Given the description of an element on the screen output the (x, y) to click on. 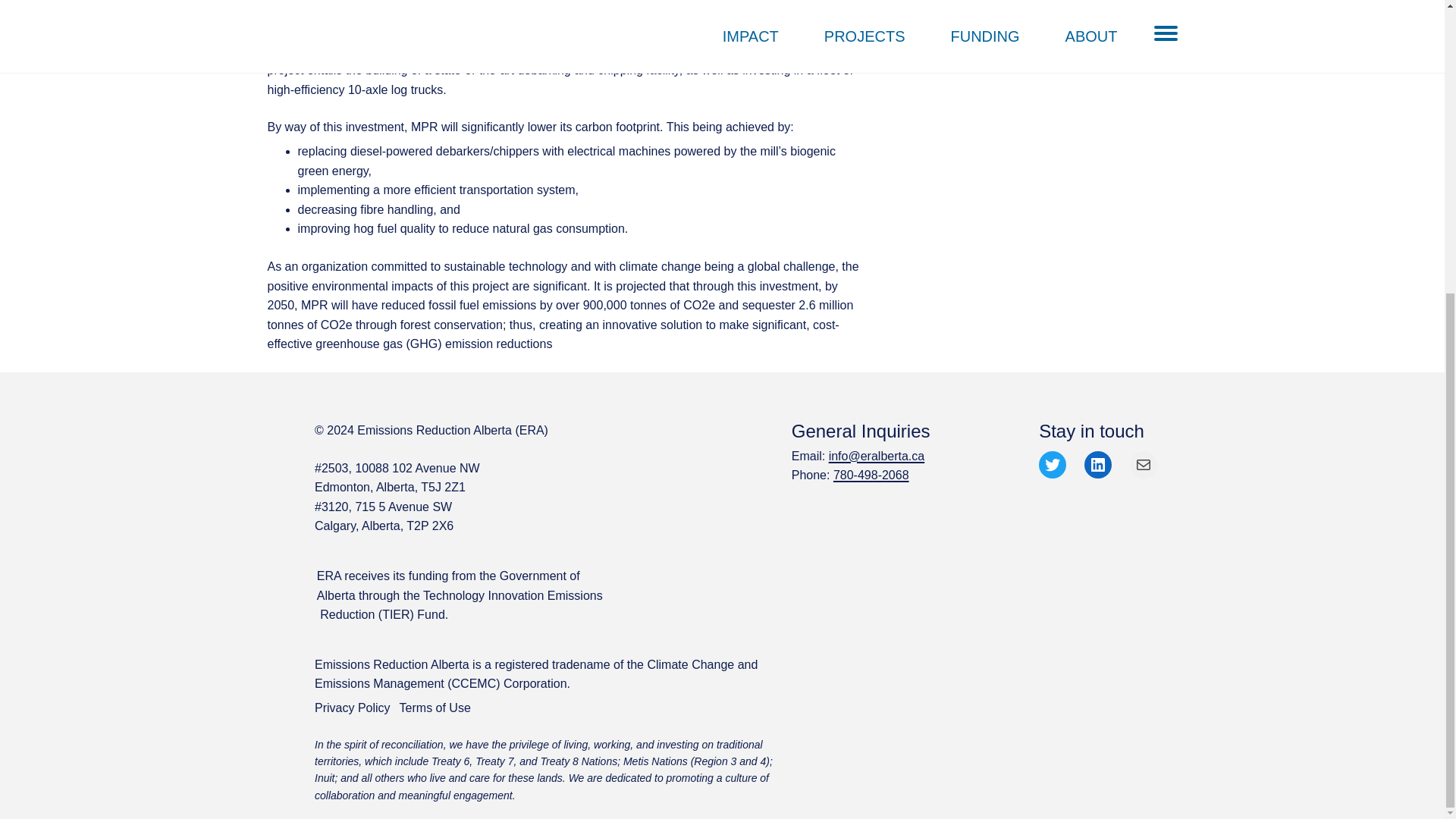
Mail (1143, 464)
Terms of Use (434, 708)
780-498-2068 (870, 474)
LinkedIn (1098, 464)
Privacy Policy (352, 708)
Twitter (1052, 464)
